Given the description of an element on the screen output the (x, y) to click on. 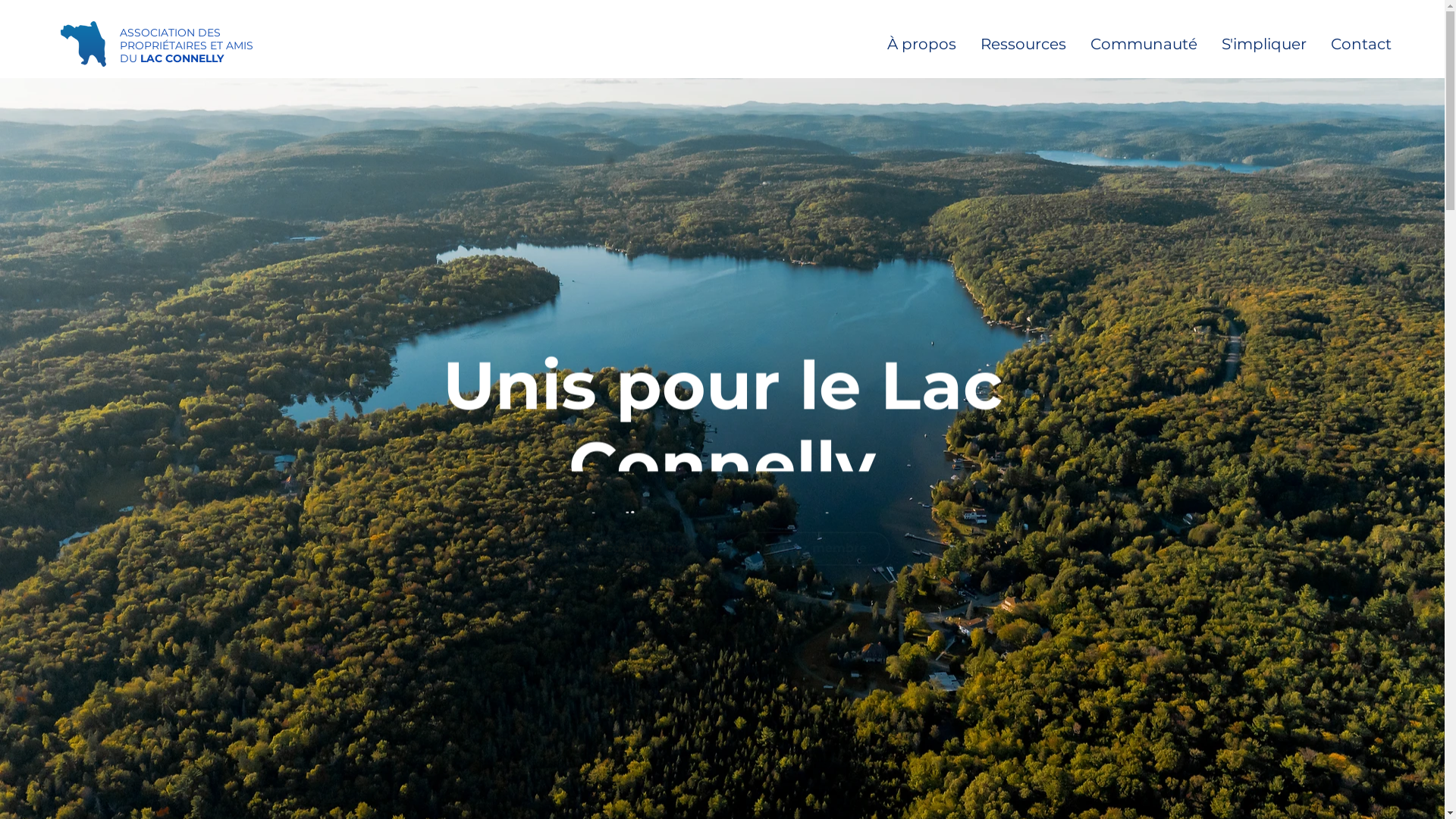
Faire une contribution $ Element type: text (619, 540)
LAC CONNELLY Element type: text (181, 58)
Contact Element type: text (1356, 42)
S'impliquer Element type: text (1259, 42)
Devenez membre Element type: text (809, 541)
Ressources Element type: text (1018, 42)
